Given the description of an element on the screen output the (x, y) to click on. 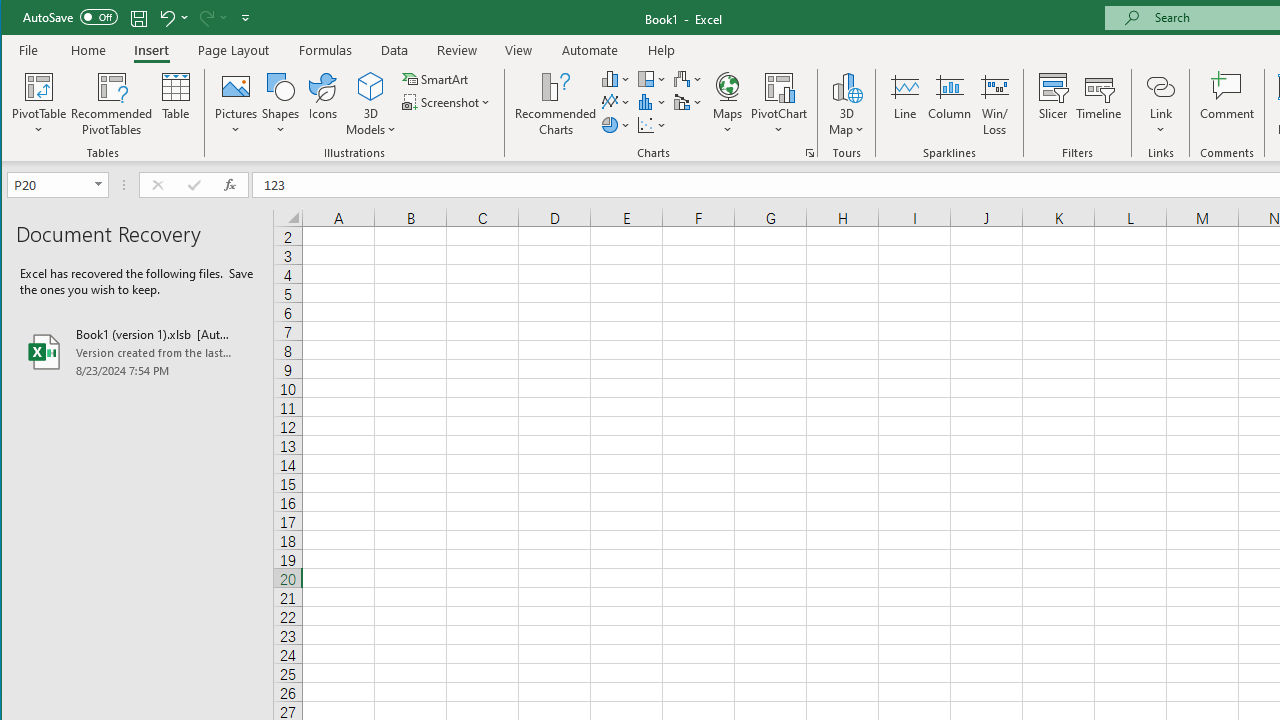
3D Models (371, 104)
Slicer... (1052, 104)
Insert Scatter (X, Y) or Bubble Chart (652, 124)
Maps (727, 104)
PivotChart (779, 86)
Pictures (235, 104)
Insert Hierarchy Chart (652, 78)
Win/Loss (995, 104)
Line (904, 104)
